Given the description of an element on the screen output the (x, y) to click on. 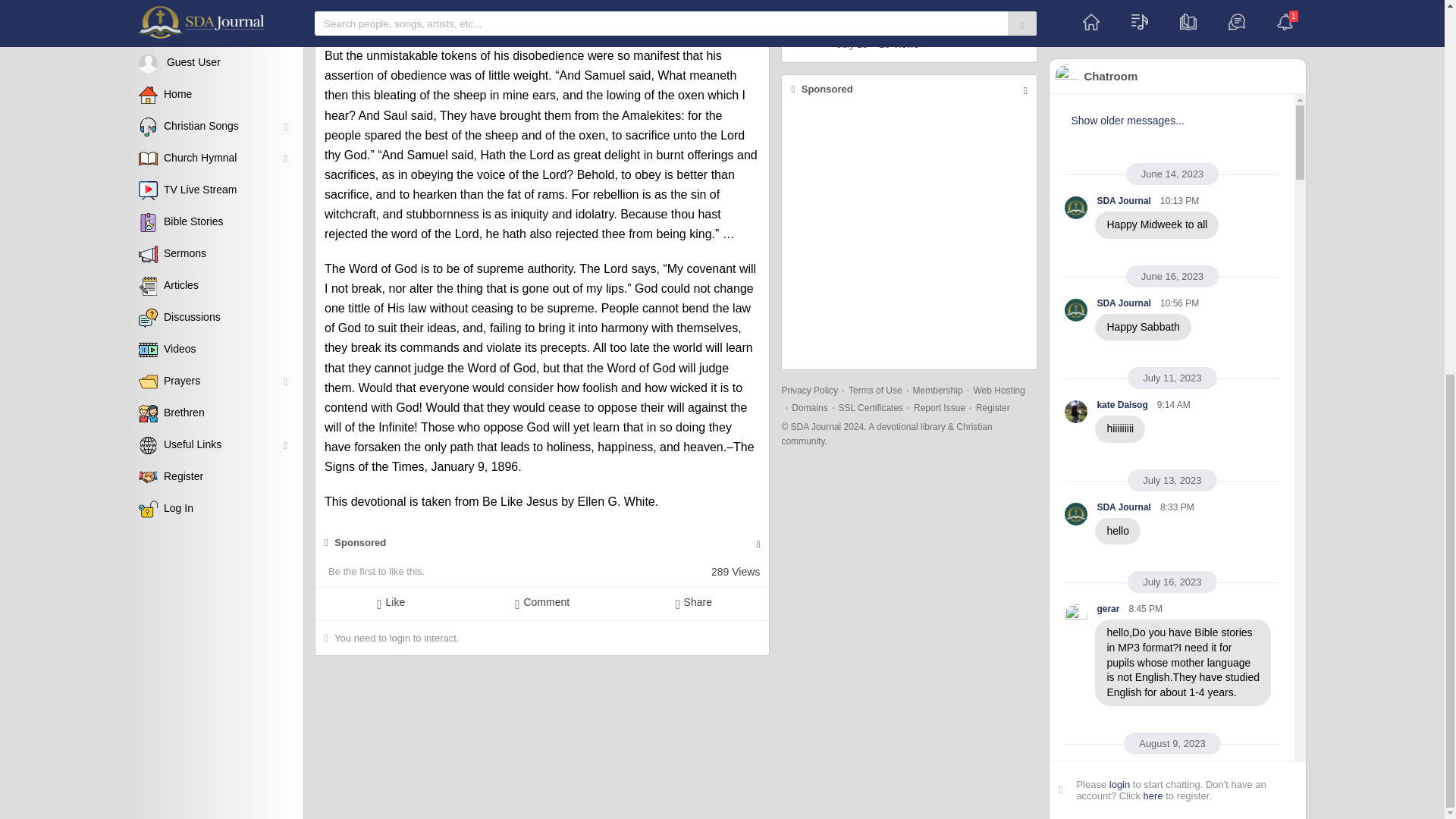
Advertisement (908, 236)
